Given the description of an element on the screen output the (x, y) to click on. 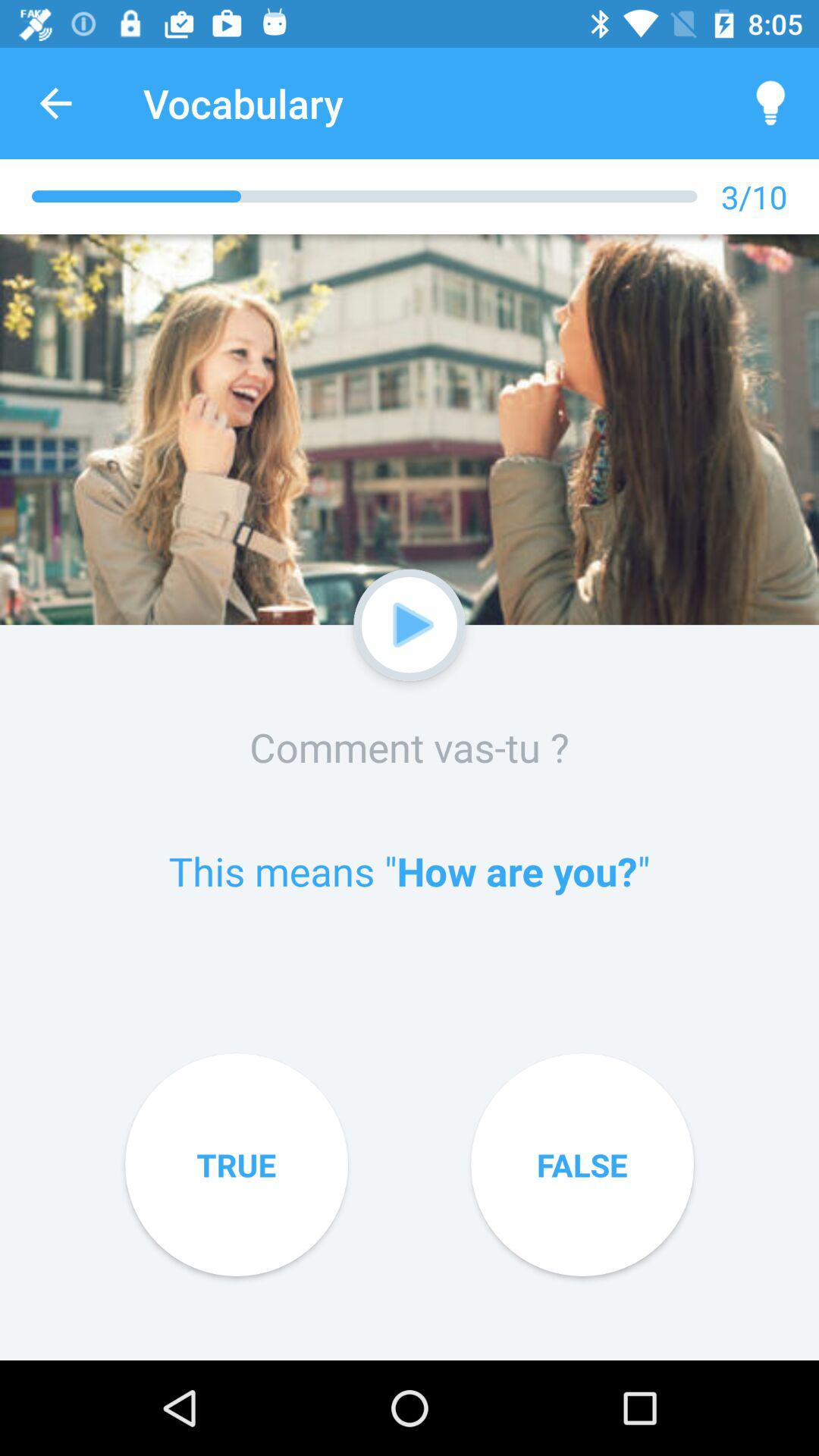
press icon next to the vocabulary (771, 103)
